Given the description of an element on the screen output the (x, y) to click on. 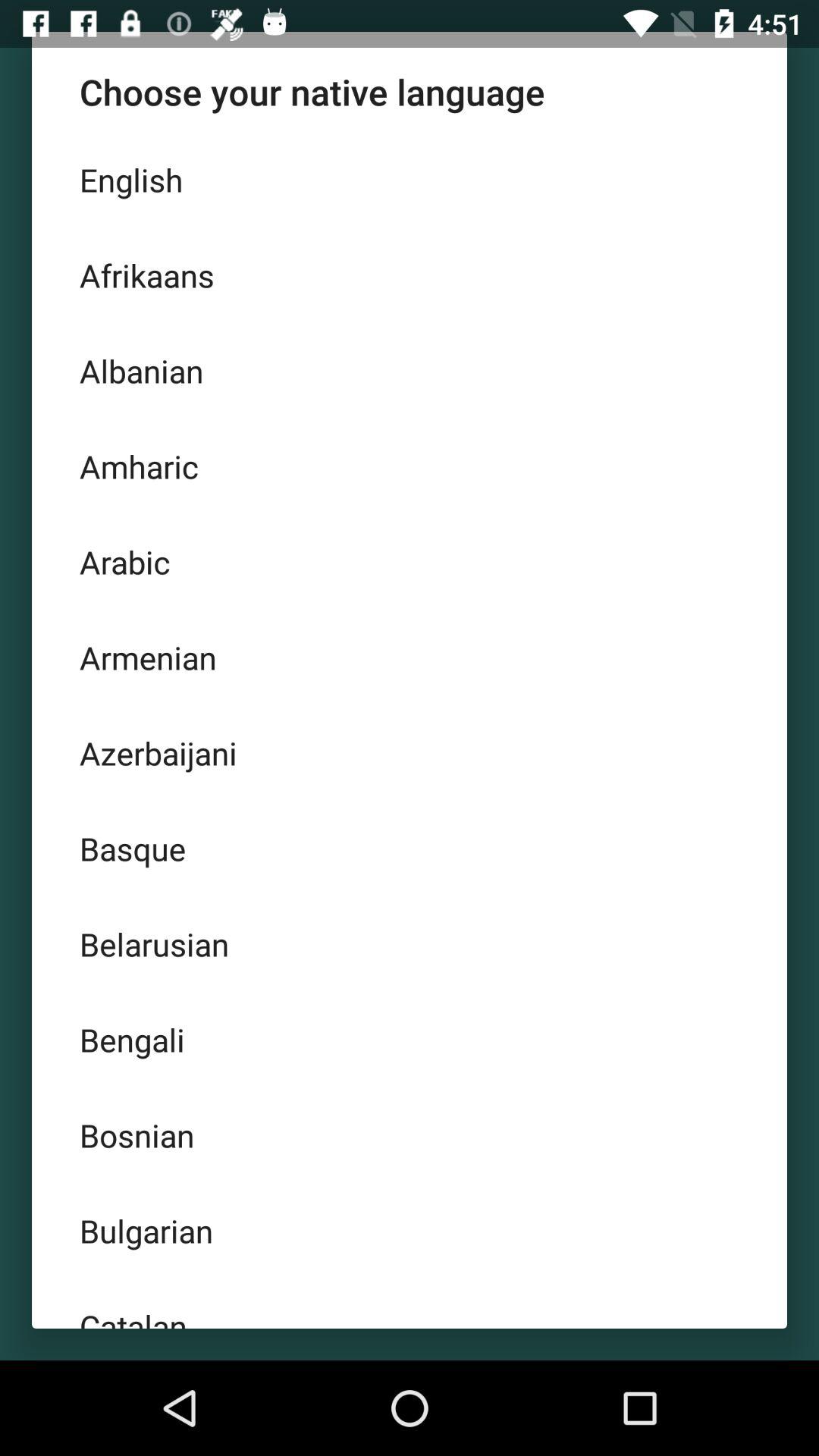
select the icon below bengali icon (409, 1135)
